Given the description of an element on the screen output the (x, y) to click on. 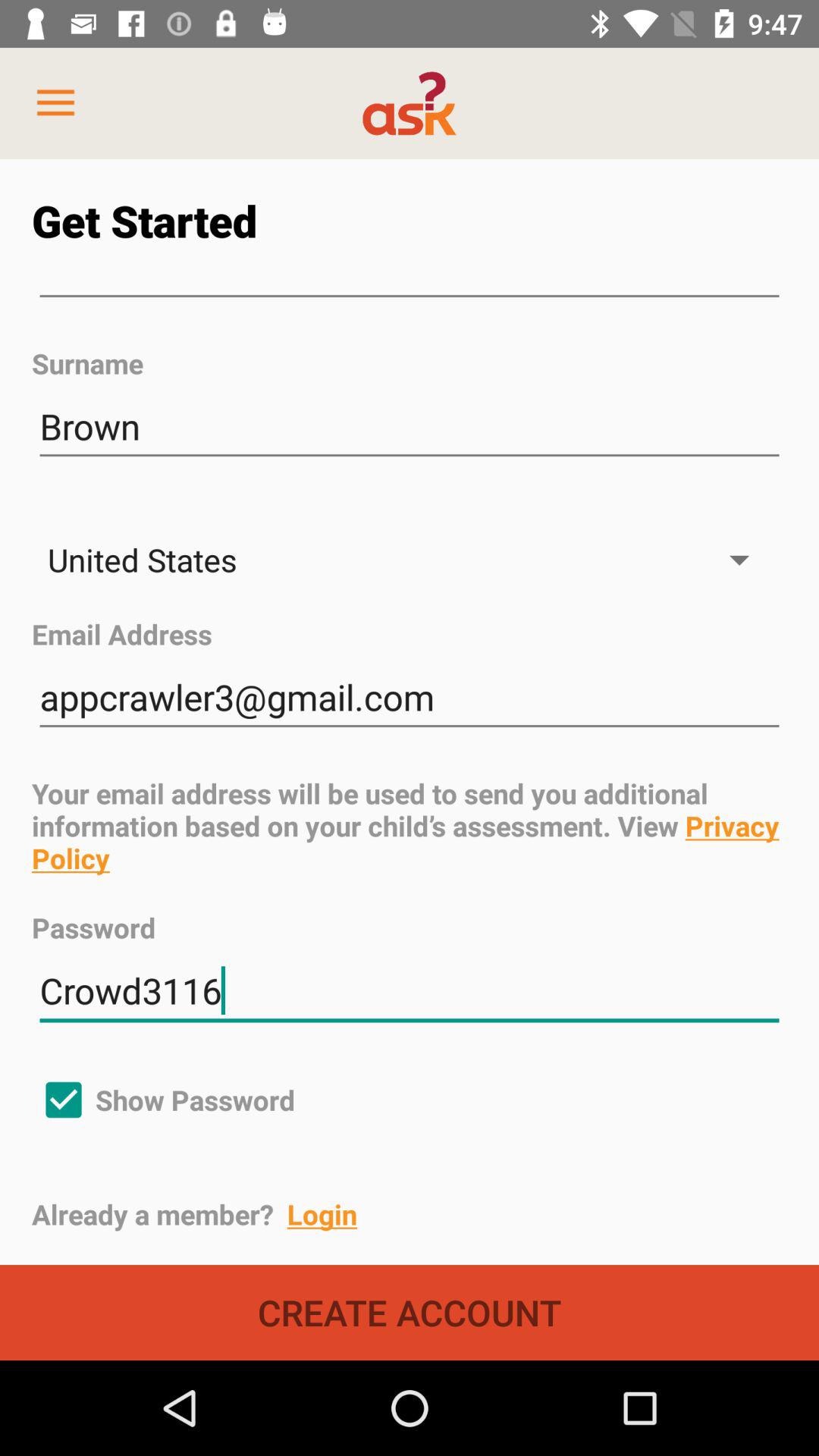
tap the item at the bottom left corner (163, 1099)
